Given the description of an element on the screen output the (x, y) to click on. 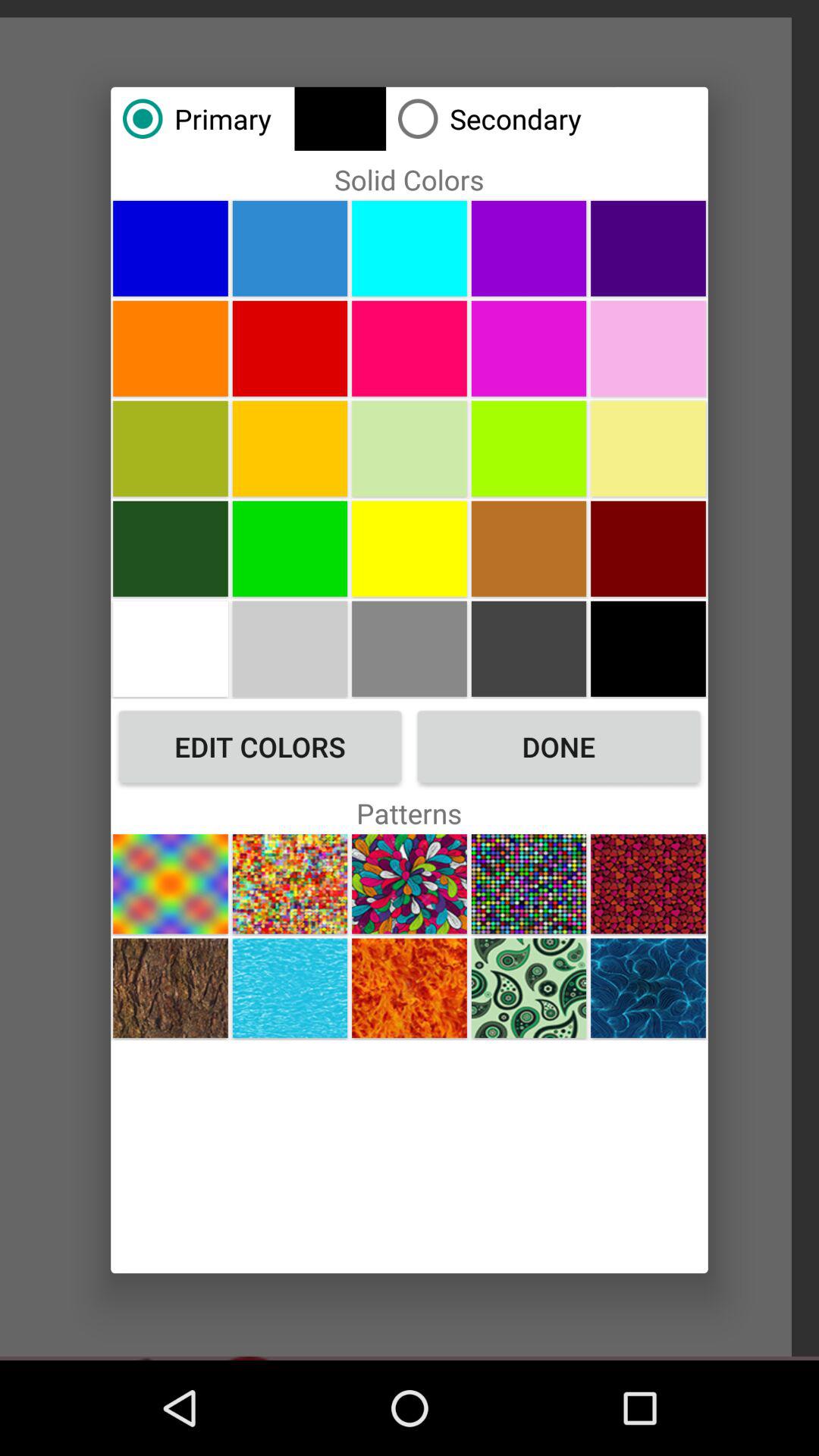
select orange (170, 348)
